Given the description of an element on the screen output the (x, y) to click on. 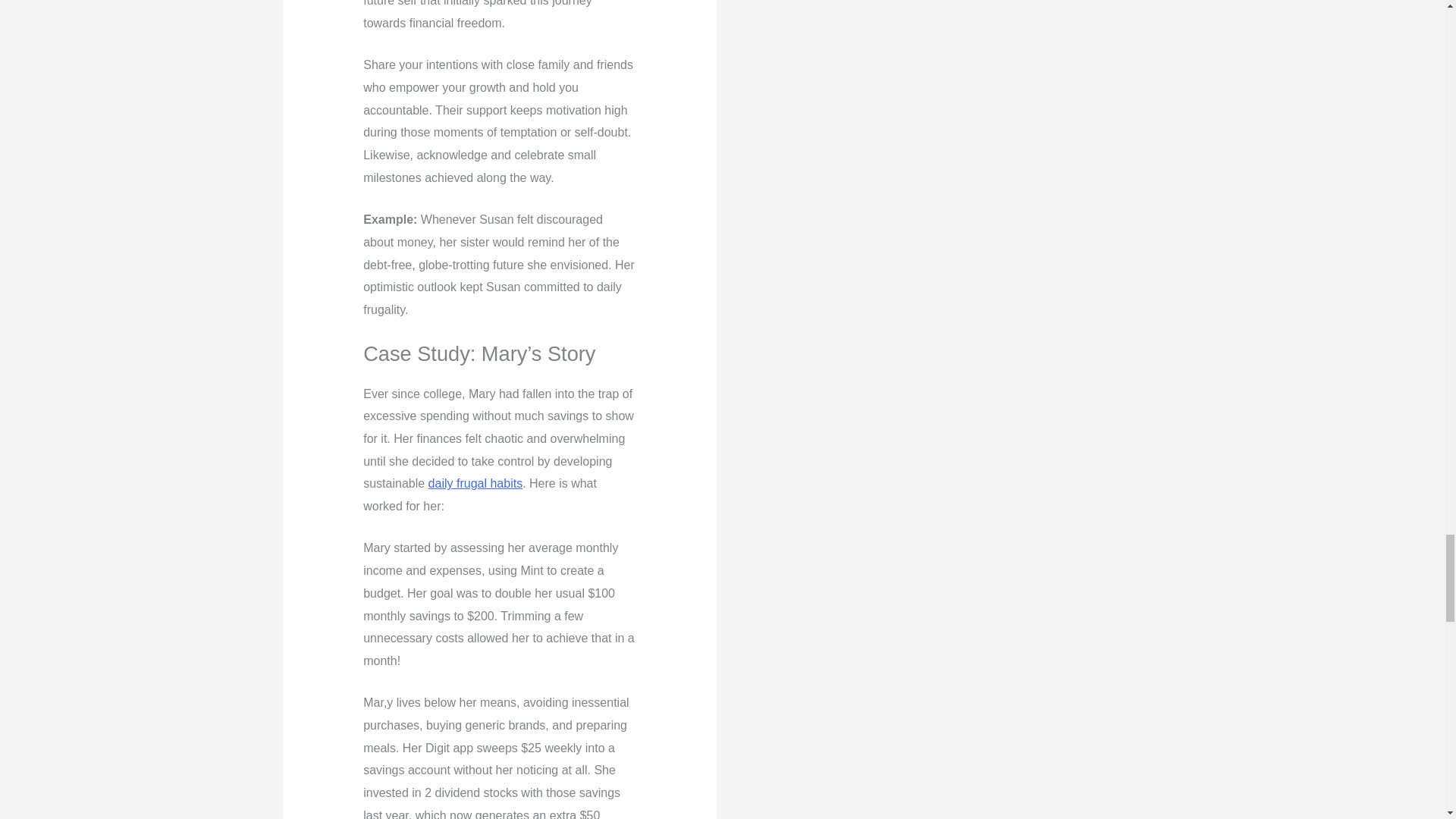
daily frugal habits (475, 482)
